Given the description of an element on the screen output the (x, y) to click on. 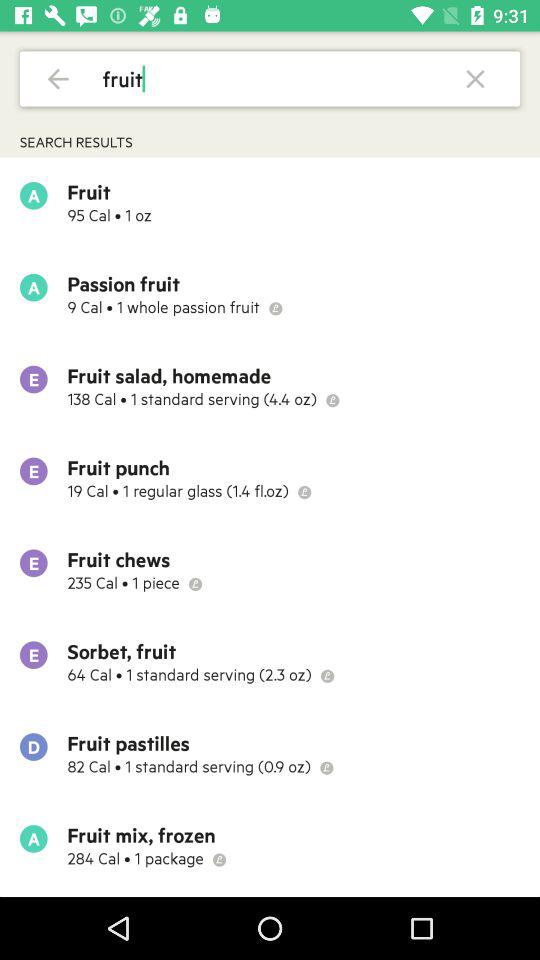
turn off item to the left of the fruit (57, 78)
